Given the description of an element on the screen output the (x, y) to click on. 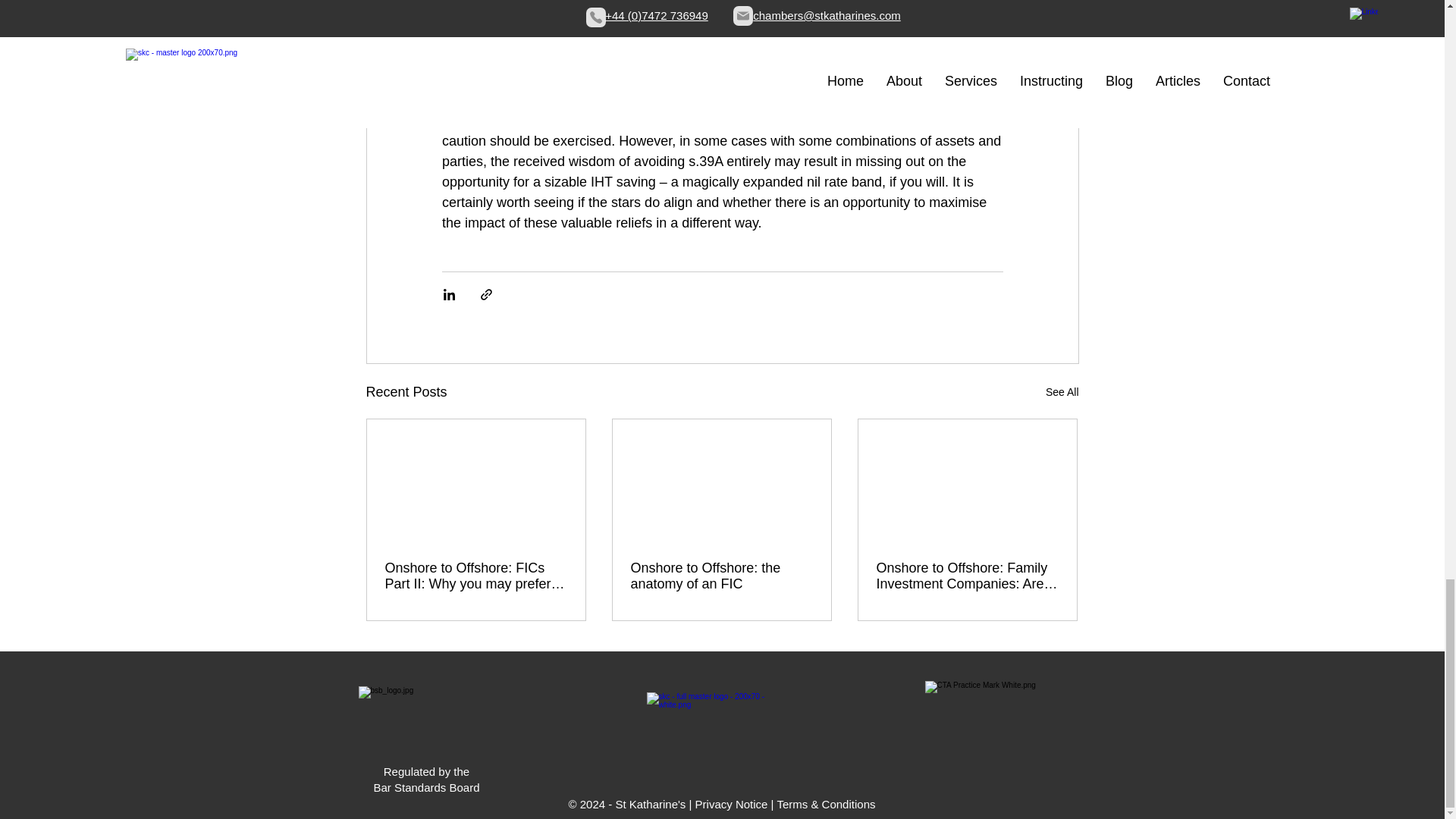
See All (1061, 392)
Privacy Notice (731, 803)
Onshore to Offshore: the anatomy of an FIC (721, 576)
